Given the description of an element on the screen output the (x, y) to click on. 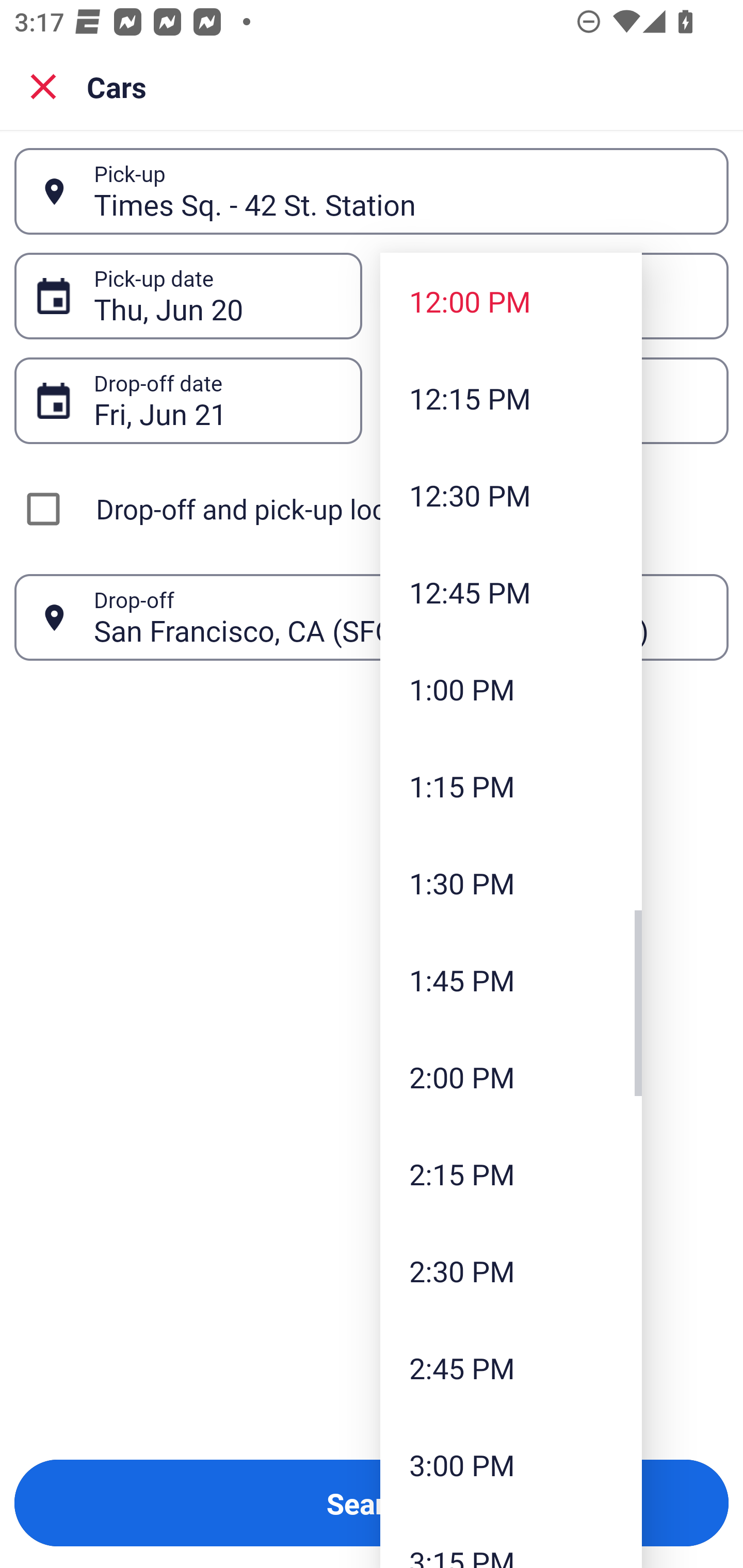
12:00 PM (510, 300)
12:15 PM (510, 397)
12:30 PM (510, 495)
12:45 PM (510, 592)
1:00 PM (510, 688)
1:15 PM (510, 785)
1:30 PM (510, 882)
1:45 PM (510, 979)
2:00 PM (510, 1076)
2:15 PM (510, 1174)
2:30 PM (510, 1270)
2:45 PM (510, 1366)
3:00 PM (510, 1464)
